Given the description of an element on the screen output the (x, y) to click on. 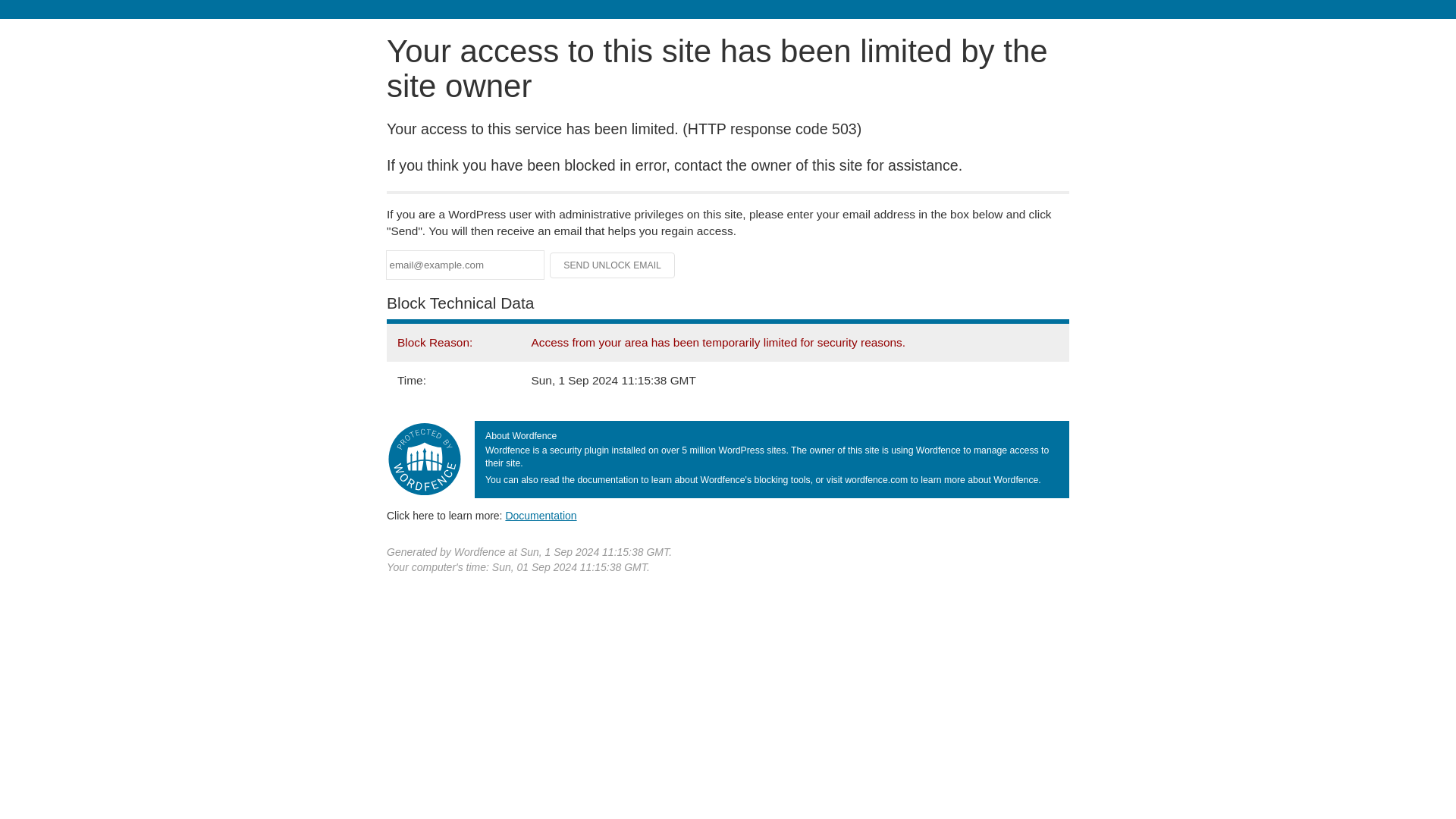
Send Unlock Email (612, 265)
Send Unlock Email (612, 265)
Documentation (540, 515)
